Given the description of an element on the screen output the (x, y) to click on. 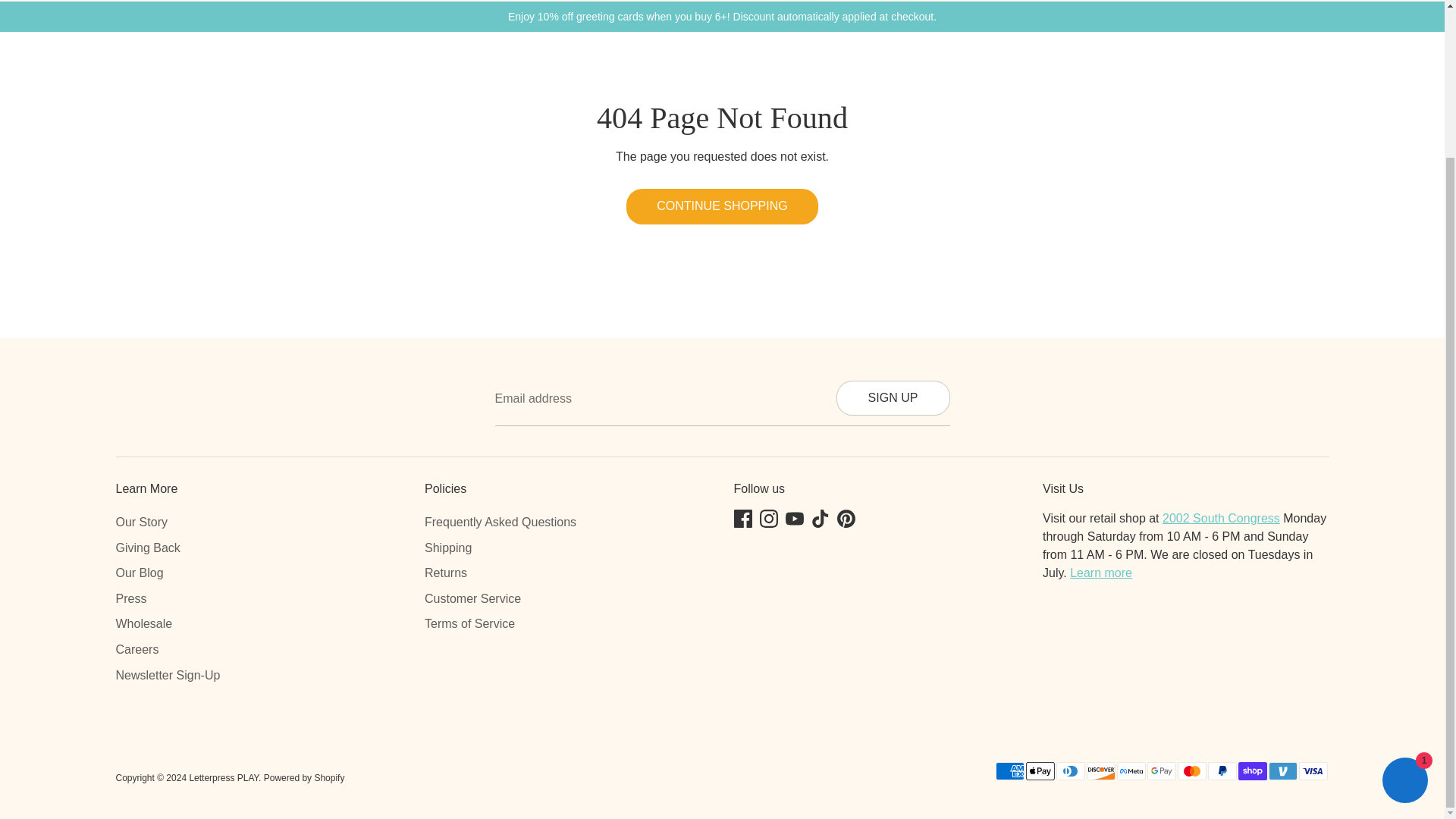
Visit Us (1101, 572)
Diners Club (1069, 771)
American Express (1008, 771)
Shopify online store chat (1404, 597)
Apple Pay (1039, 771)
